Given the description of an element on the screen output the (x, y) to click on. 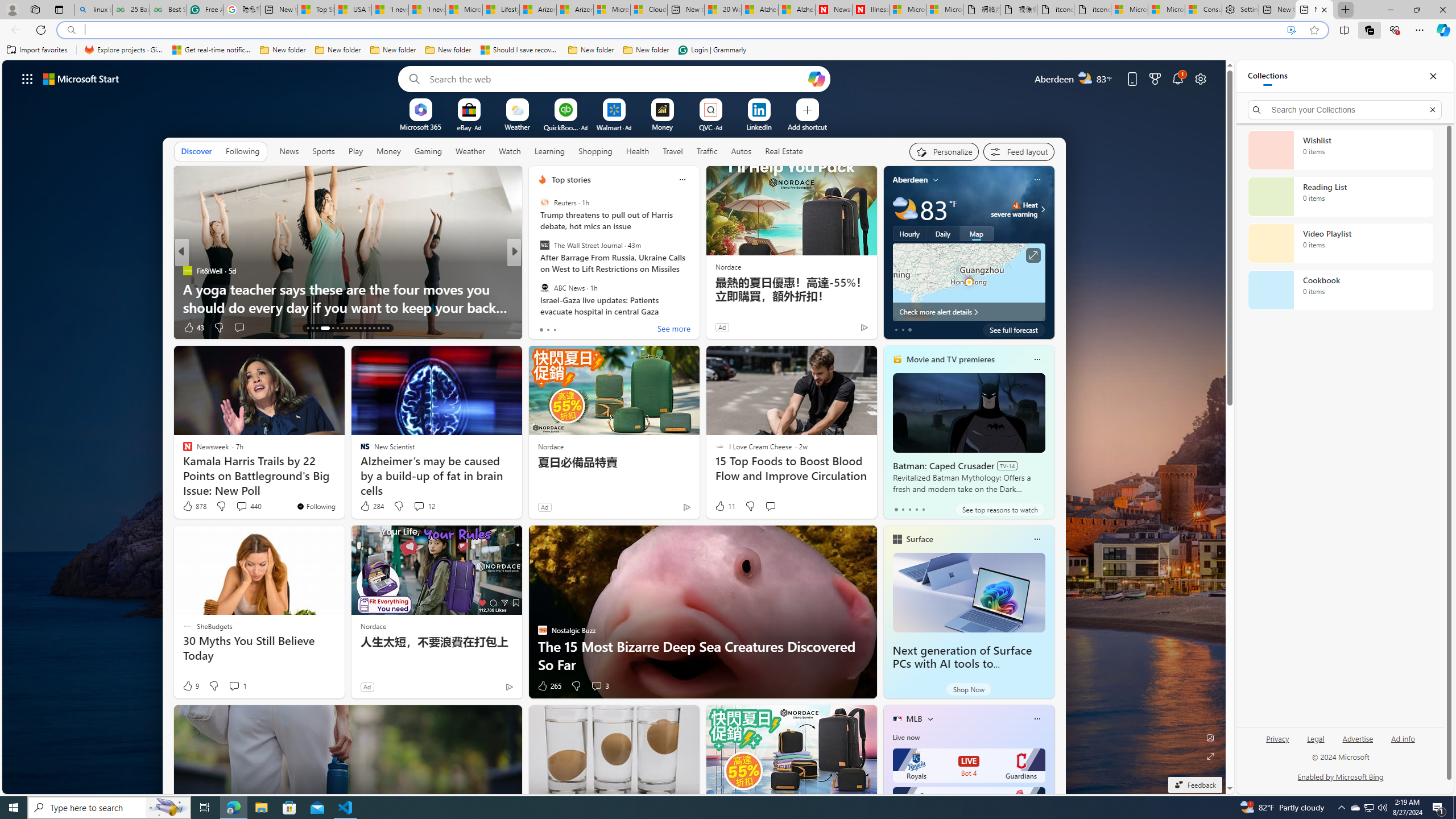
Real Estate (783, 151)
UnifyCosmos (537, 270)
New folder (646, 49)
LinkedIn (758, 126)
AutomationID: tab-17 (332, 328)
View comments 2k Comment (588, 327)
Travel (672, 151)
Sports (323, 151)
The Wall Street Journal (544, 245)
